Given the description of an element on the screen output the (x, y) to click on. 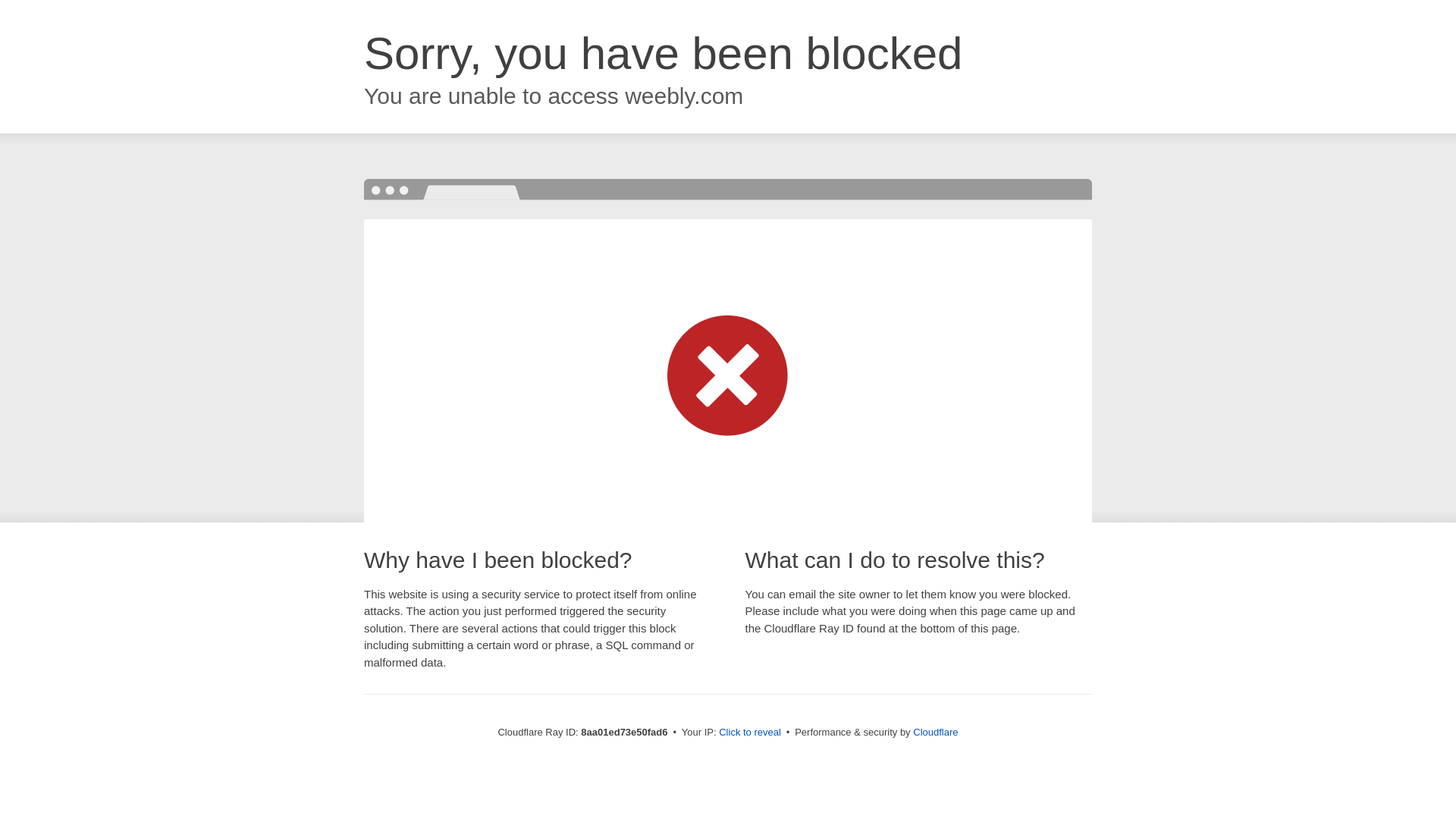
Click to reveal (749, 732)
Cloudflare (935, 731)
